Given the description of an element on the screen output the (x, y) to click on. 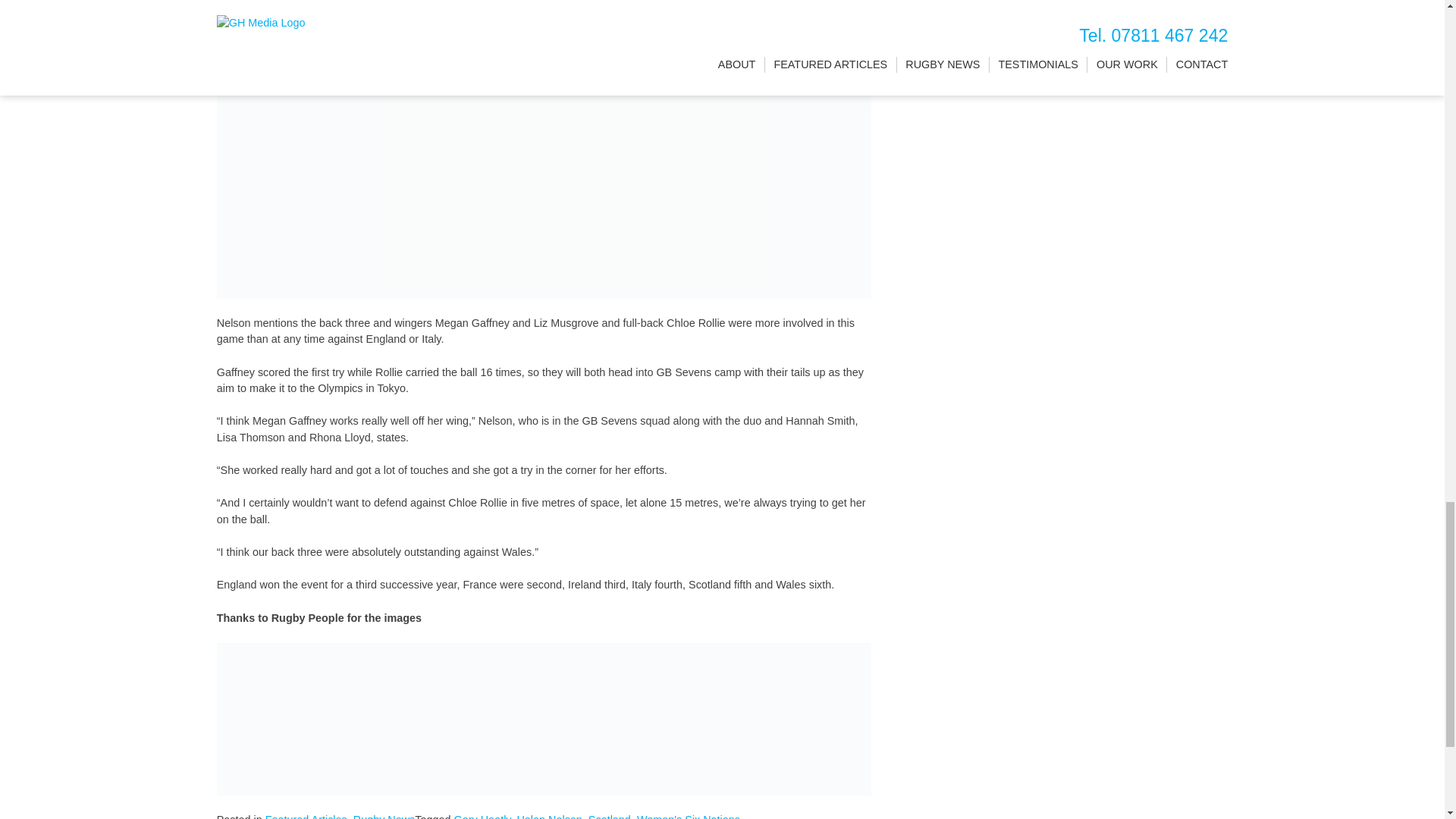
Women's Six Nations (688, 816)
Gary Heatly (482, 816)
Rugby News (383, 816)
Featured Articles (305, 816)
Helen Nelson (548, 816)
Scotland (609, 816)
